Given the description of an element on the screen output the (x, y) to click on. 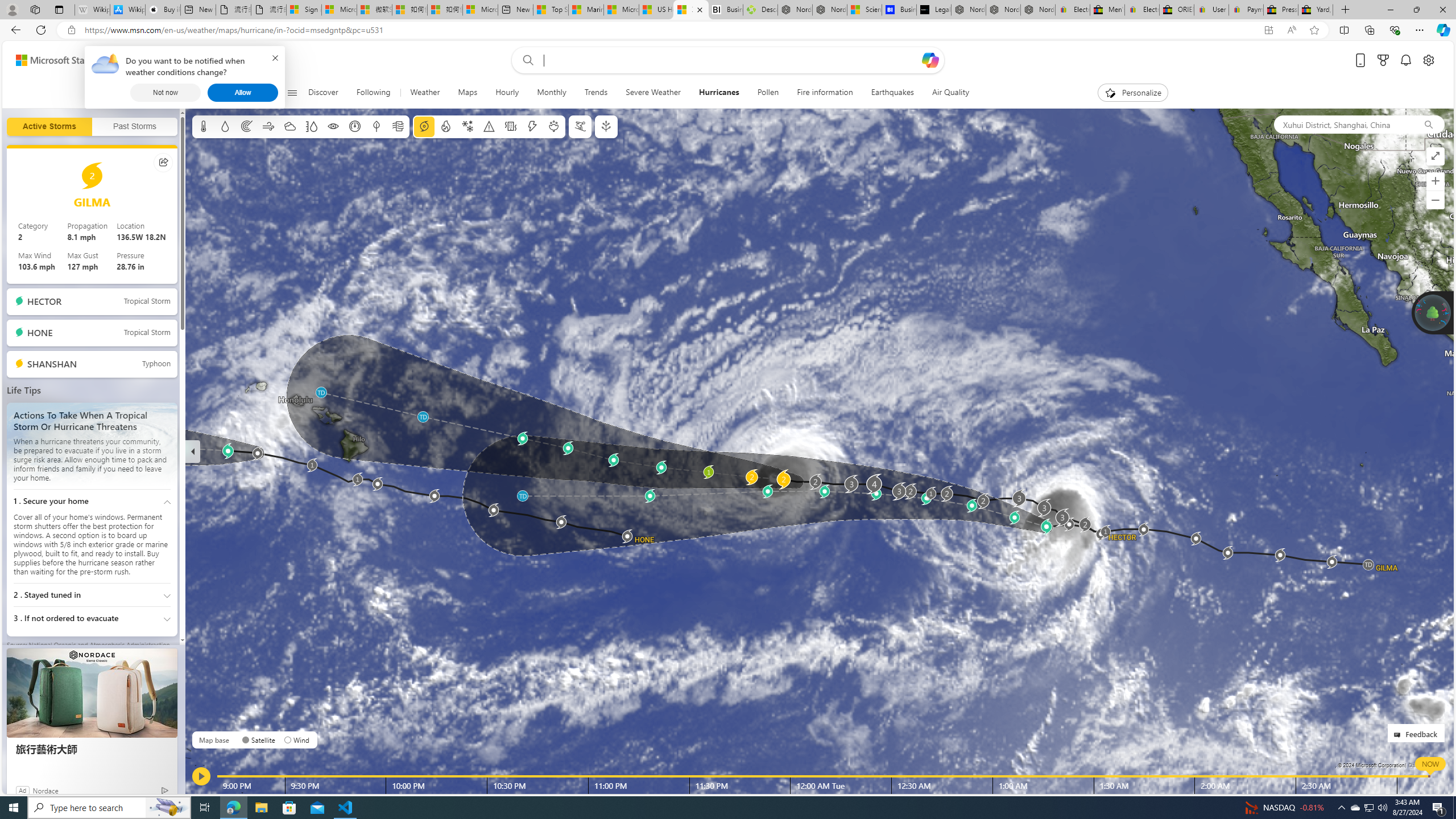
Earthquakes (892, 92)
AutomationID: radioButton-DS-EntryPoint1-1-layer-subtype-0-1 (287, 739)
Sea level pressure (355, 126)
AutomationID: radioButton-DS-EntryPoint1-1-layer-subtype-0-0 (244, 739)
Actions to Take When a Tropical Storm or Hurricane Threatens (92, 444)
HONE Tropical Storm (92, 332)
Fire information (824, 92)
Xuhui District, Shanghai, China (1342, 124)
